Given the description of an element on the screen output the (x, y) to click on. 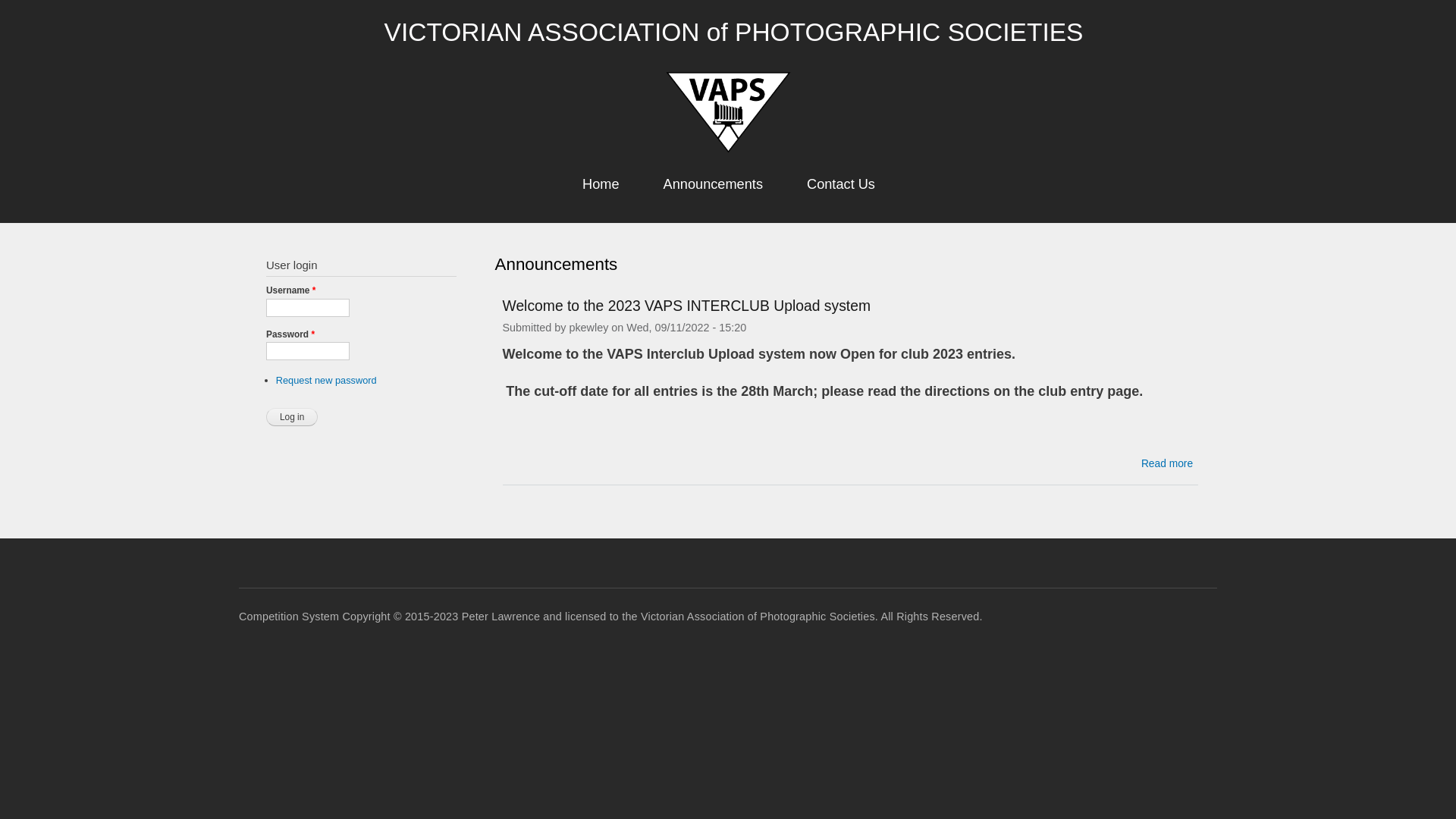
Request new password Element type: text (326, 379)
Skip to main content Element type: text (695, 1)
Welcome to the 2023 VAPS INTERCLUB Upload system Element type: text (686, 298)
Log in Element type: text (291, 416)
Home Element type: hover (727, 113)
VICTORIAN ASSOCIATION of PHOTOGRAPHIC SOCIETIES Element type: text (733, 32)
